Given the description of an element on the screen output the (x, y) to click on. 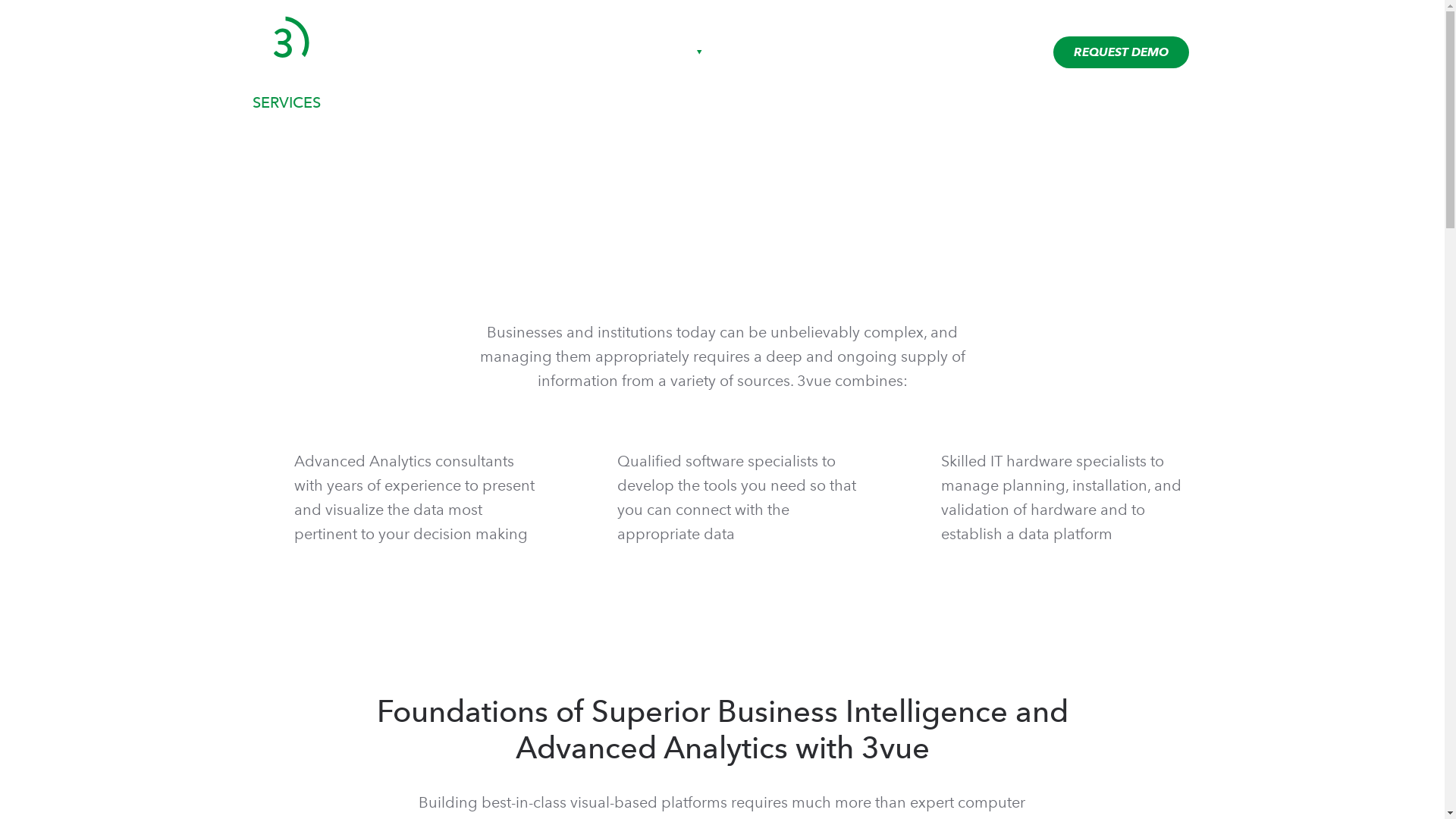
Success Element type: text (891, 52)
Solutions Element type: text (820, 52)
REQUEST DEMO Element type: text (1120, 52)
GO TO MEETING Element type: text (1126, 18)
About Us Element type: text (672, 52)
Services Element type: text (748, 52)
Contact Us Element type: text (967, 52)
